Given the description of an element on the screen output the (x, y) to click on. 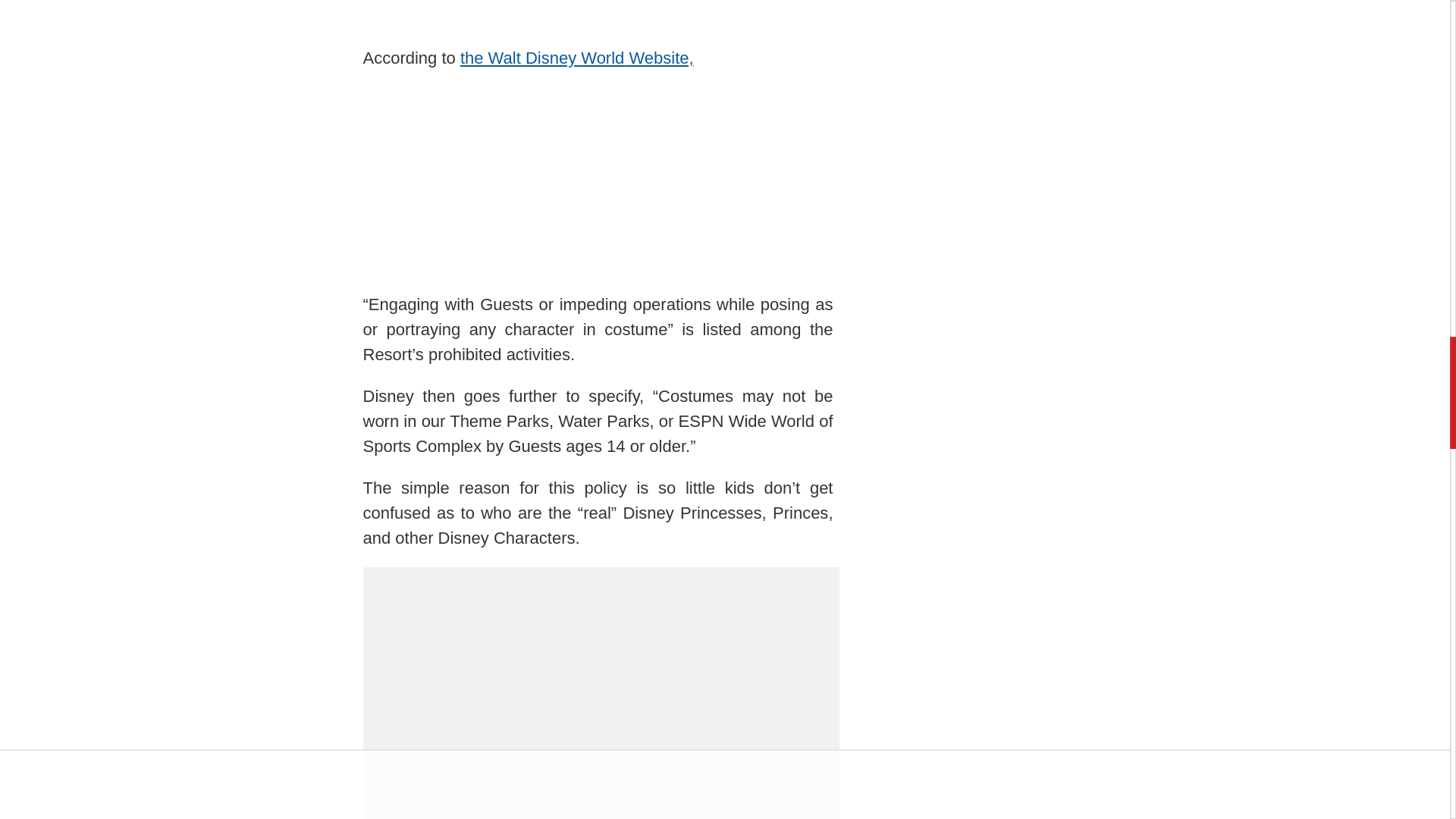
the Walt Disney World Website, (577, 57)
